Given the description of an element on the screen output the (x, y) to click on. 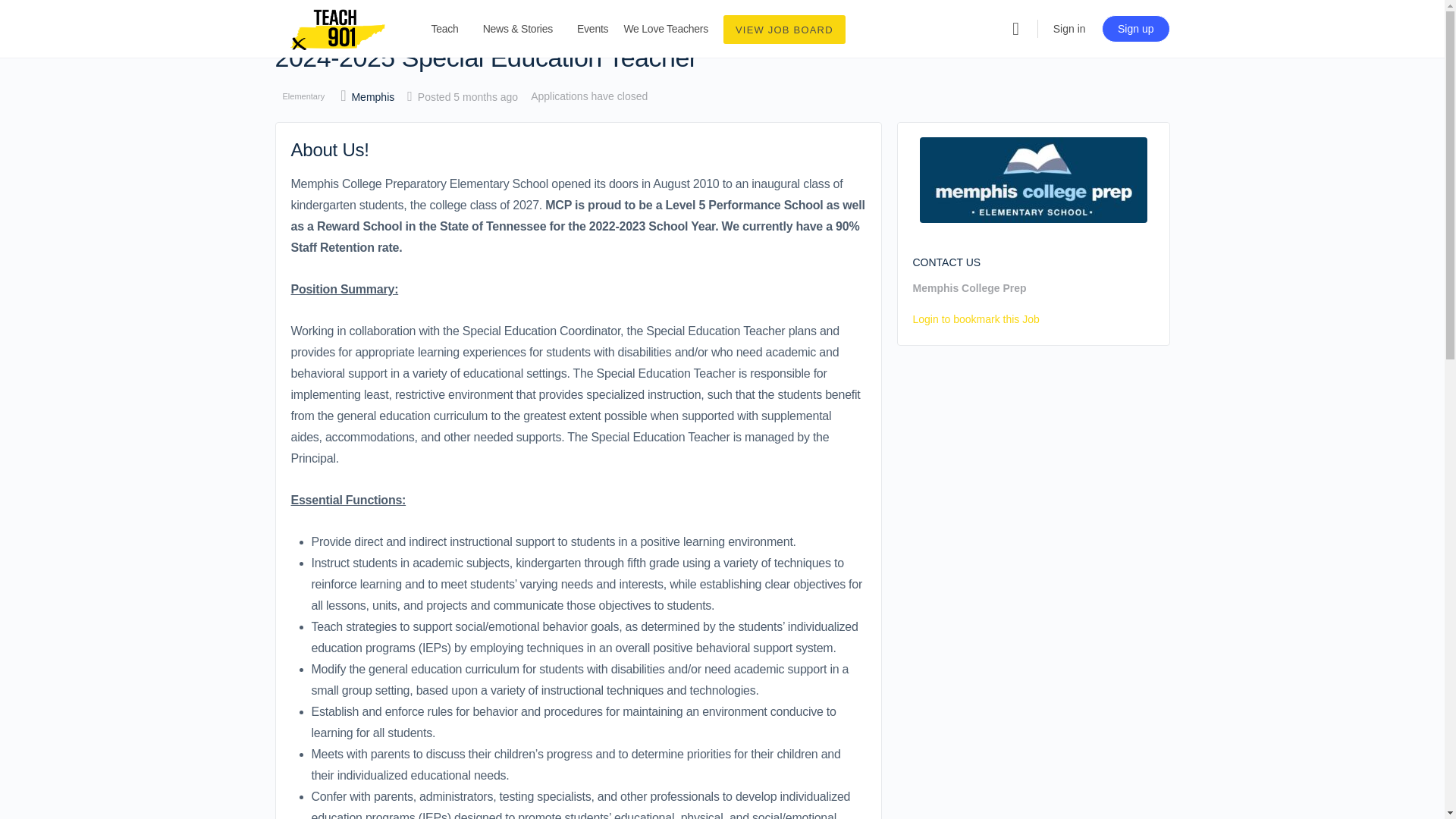
Sign up (1135, 28)
Sign in (1068, 28)
We Love Teachers (665, 28)
VIEW JOB BOARD (784, 29)
